Given the description of an element on the screen output the (x, y) to click on. 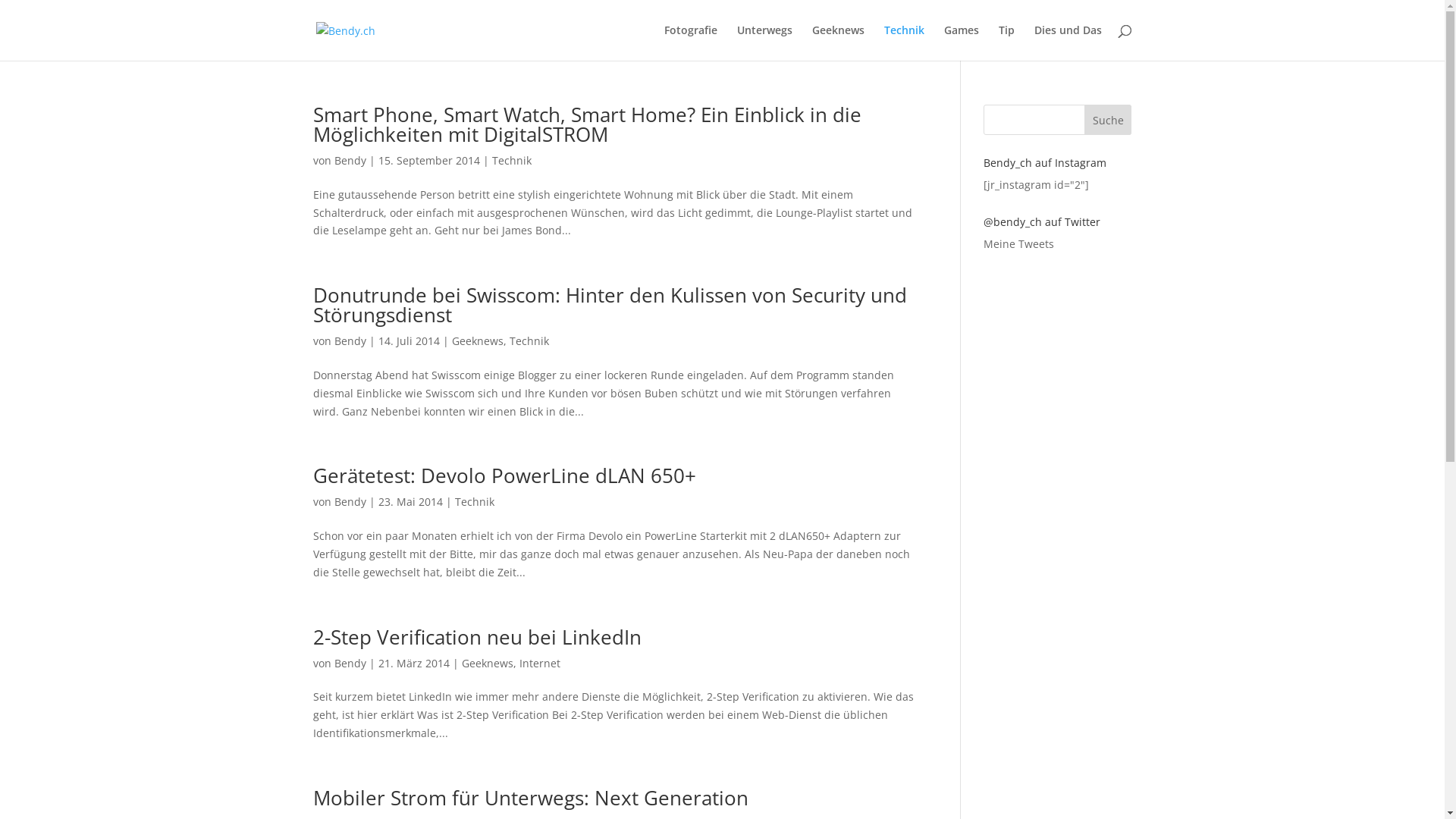
Fotografie Element type: text (690, 42)
Technik Element type: text (474, 501)
Internet Element type: text (538, 662)
Meine Tweets Element type: text (1018, 243)
Suche Element type: text (1108, 119)
Geeknews Element type: text (486, 662)
Bendy Element type: text (349, 662)
Geeknews Element type: text (837, 42)
Geeknews Element type: text (477, 340)
Bendy Element type: text (349, 501)
Tip Element type: text (1005, 42)
Bendy Element type: text (349, 340)
Technik Element type: text (510, 160)
Unterwegs Element type: text (764, 42)
Dies und Das Element type: text (1067, 42)
Technik Element type: text (904, 42)
Games Element type: text (960, 42)
2-Step Verification neu bei LinkedIn Element type: text (476, 636)
Bendy Element type: text (349, 160)
Technik Element type: text (529, 340)
